Given the description of an element on the screen output the (x, y) to click on. 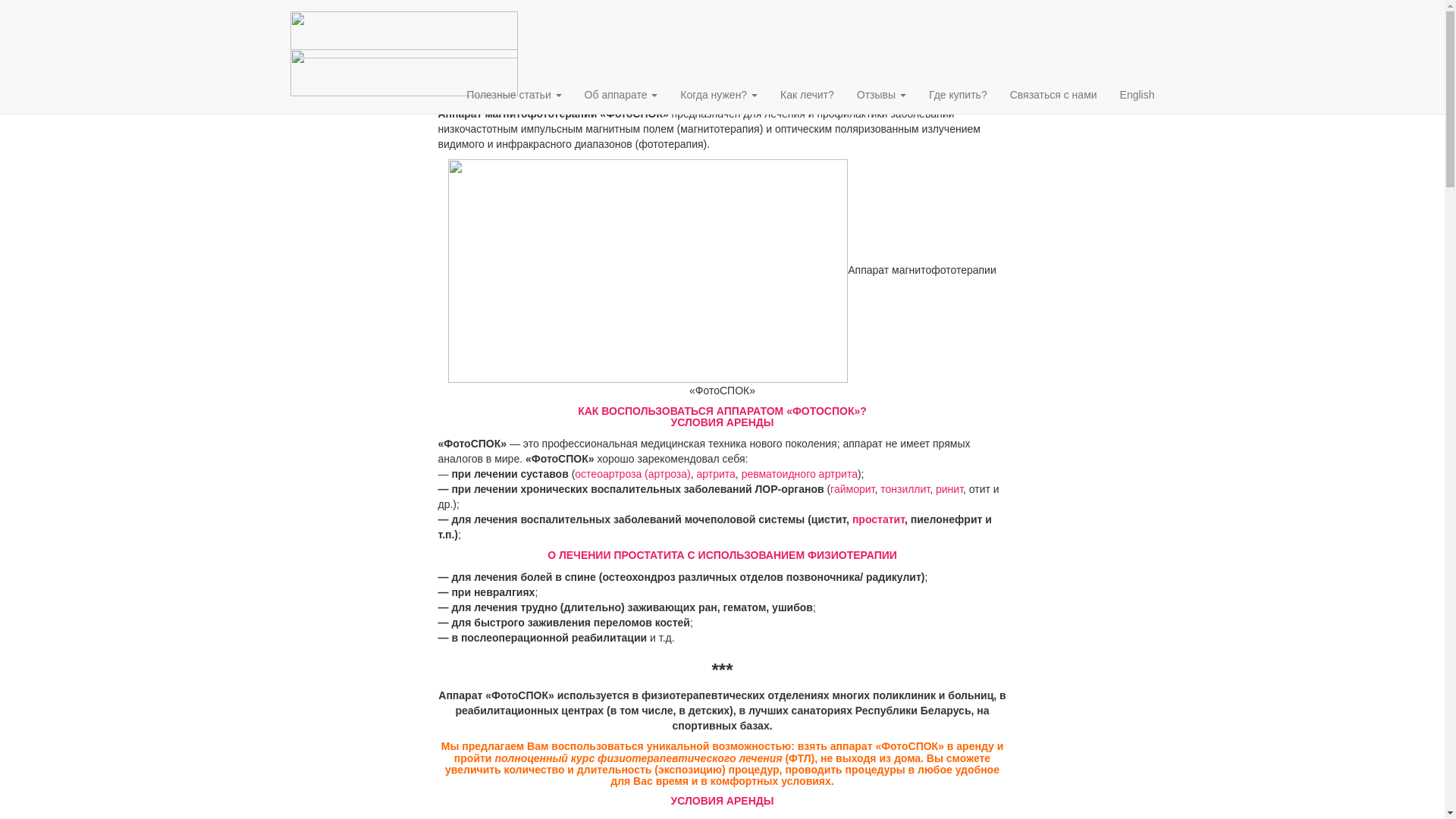
Androspok Element type: hover (404, 56)
English Element type: text (1137, 94)
Androspok Element type: hover (404, 18)
